Given the description of an element on the screen output the (x, y) to click on. 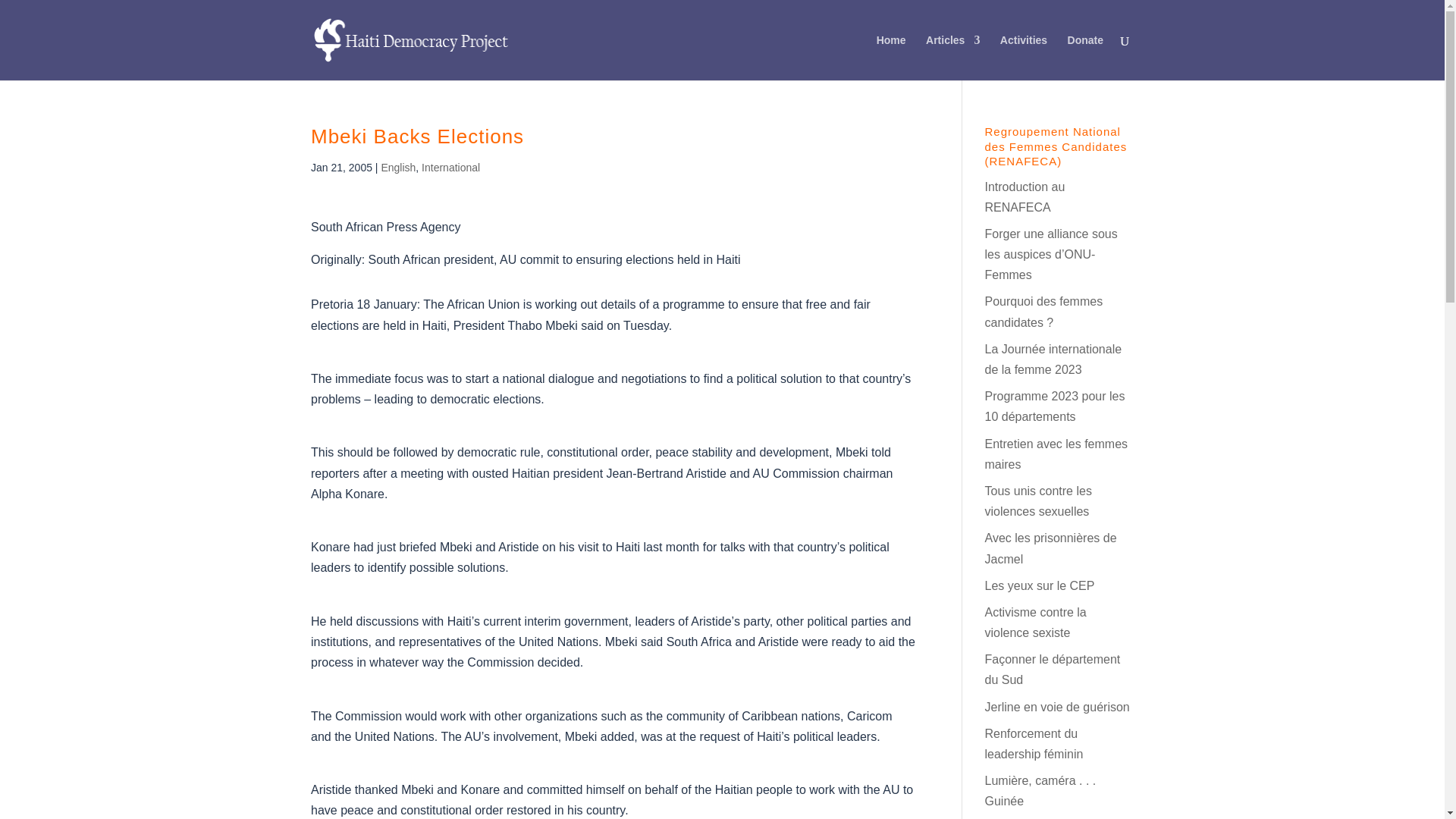
Activisme contre la violence sexiste (1035, 622)
Les yeux sur le CEP (1039, 585)
Pourquoi des femmes candidates ? (1043, 311)
International (451, 167)
Lights, Camera . . . Guinea (1040, 790)
Activities (1023, 57)
With the Women Prisoners of Jacmel (1050, 548)
Eyes on the CEP (1039, 585)
Articles (952, 57)
Jerline on the Mend  (1056, 707)
